Given the description of an element on the screen output the (x, y) to click on. 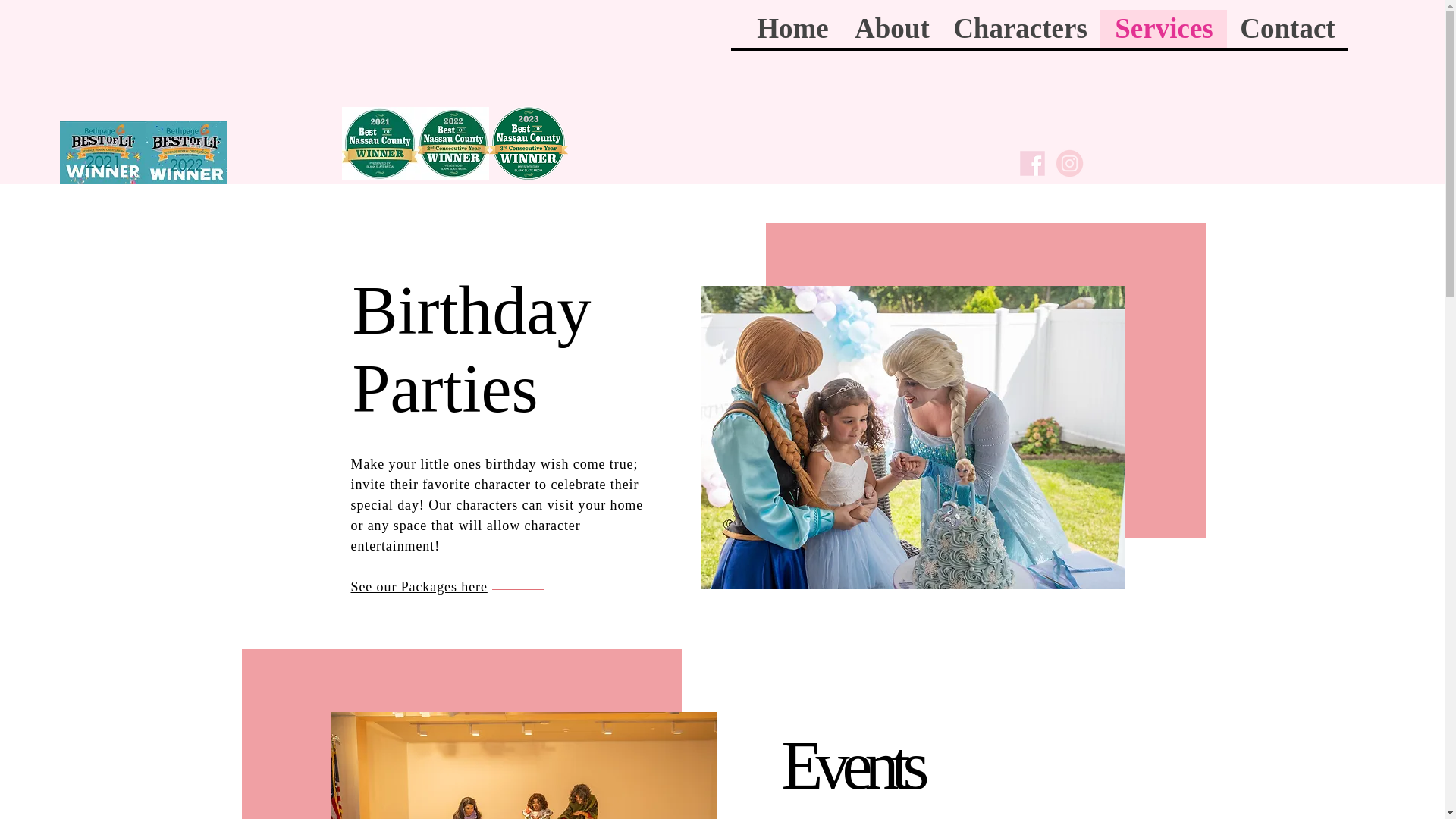
Characters (1019, 28)
Contact (1287, 28)
Services (1163, 28)
Home (792, 28)
About (891, 28)
See our Packages here (418, 586)
